Given the description of an element on the screen output the (x, y) to click on. 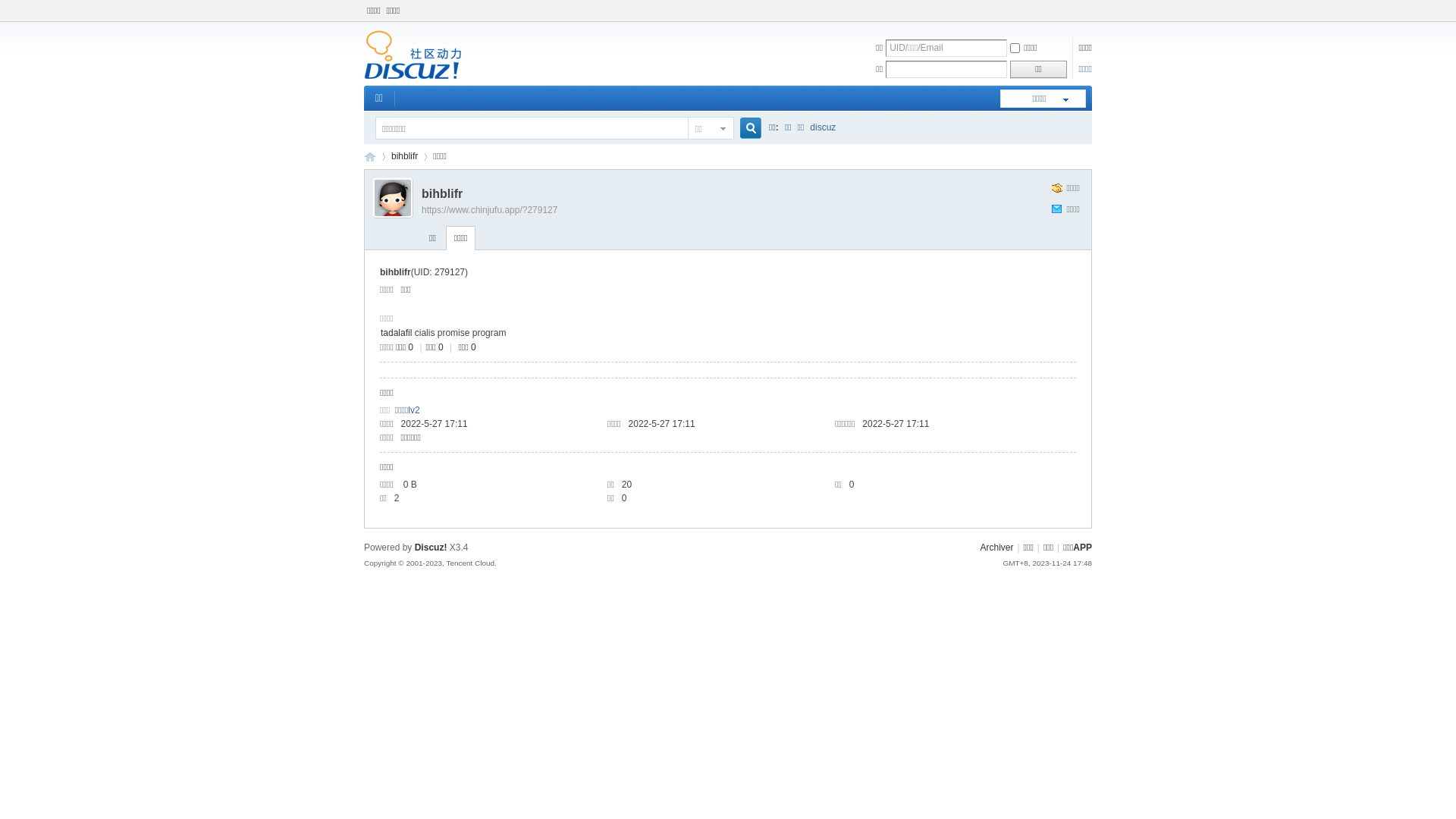
Discuz! Element type: text (430, 547)
true Element type: text (745, 128)
bihblifr Element type: text (404, 156)
discuz Element type: text (822, 127)
Archiver Element type: text (996, 547)
tadalafil Element type: text (395, 332)
https://www.chinjufu.app/?279127 Element type: text (489, 209)
